Given the description of an element on the screen output the (x, y) to click on. 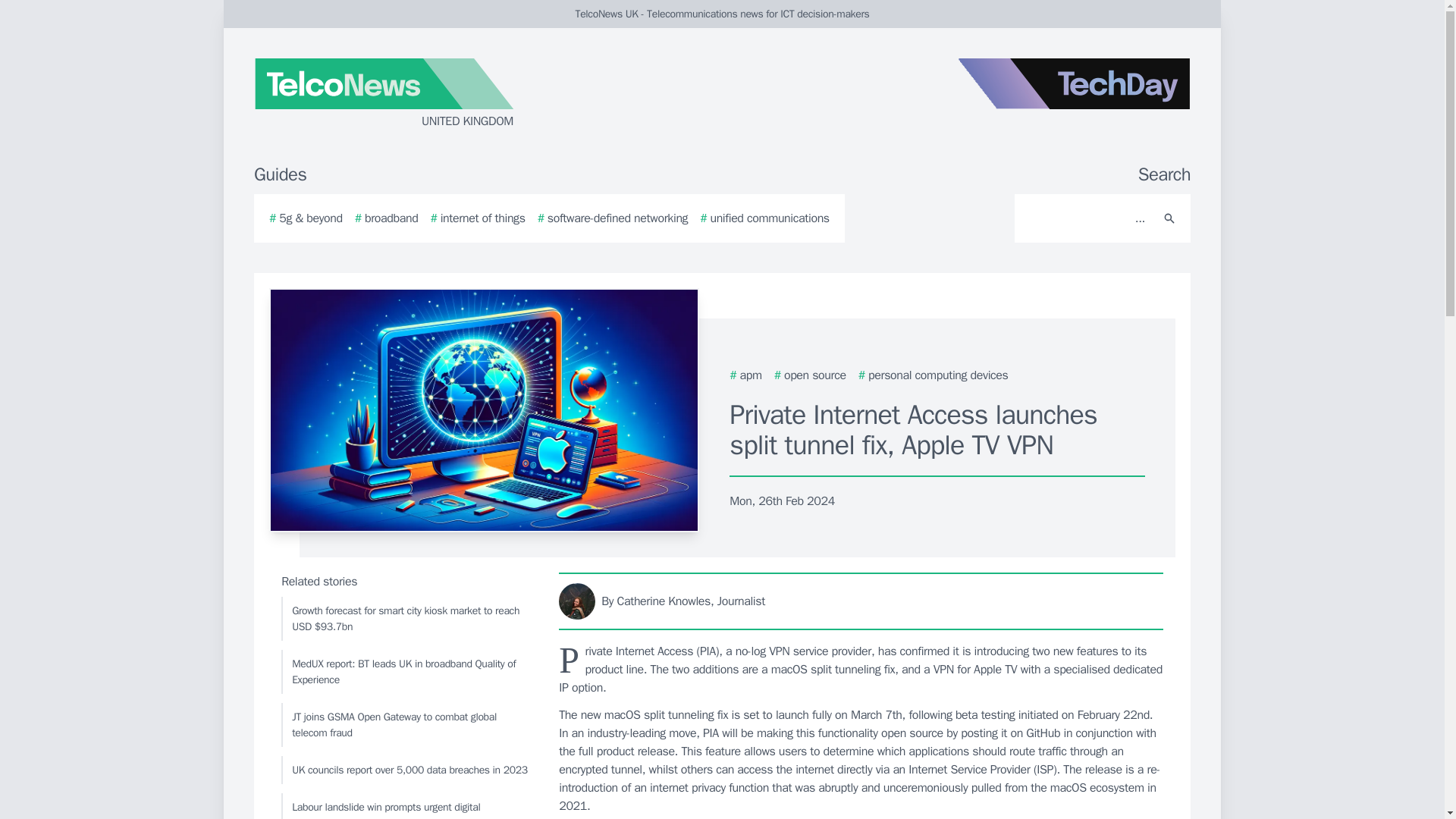
UNITED KINGDOM (435, 94)
UK councils report over 5,000 data breaches in 2023 (406, 769)
MedUX report: BT leads UK in broadband Quality of Experience (406, 671)
By Catherine Knowles, Journalist (861, 601)
JT joins GSMA Open Gateway to combat global telecom fraud (406, 724)
